Given the description of an element on the screen output the (x, y) to click on. 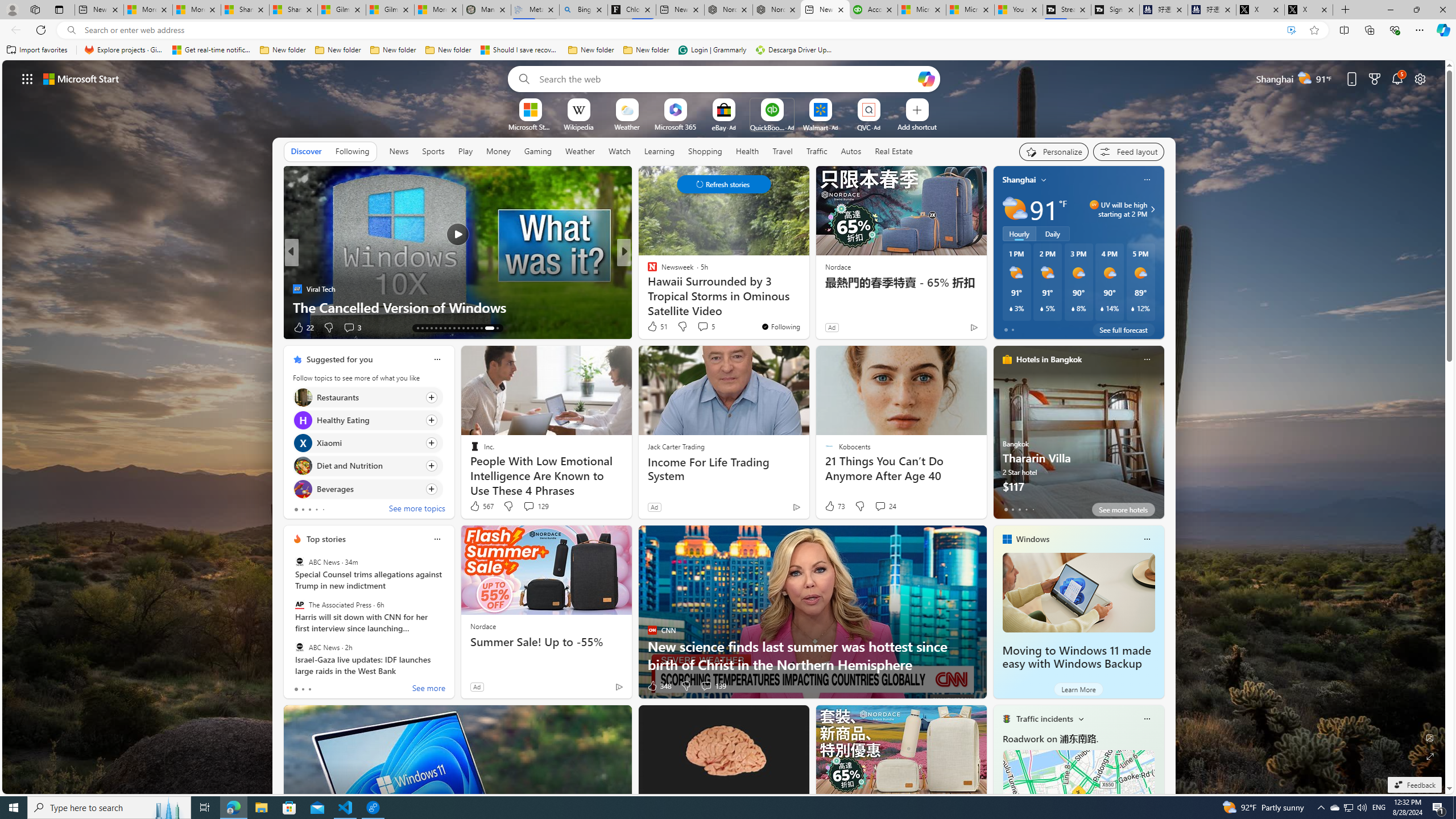
tab-1 (302, 689)
AutomationID: tab-21 (435, 328)
See more hotels (1123, 509)
Click to follow topic Diet and Nutrition (367, 465)
AutomationID: tab-26 (458, 328)
Bing Real Estate - Home sales and rental listings (583, 9)
AutomationID: tab-18 (422, 328)
Real Estate (893, 151)
Class: weather-current-precipitation-glyph (1133, 308)
